Given the description of an element on the screen output the (x, y) to click on. 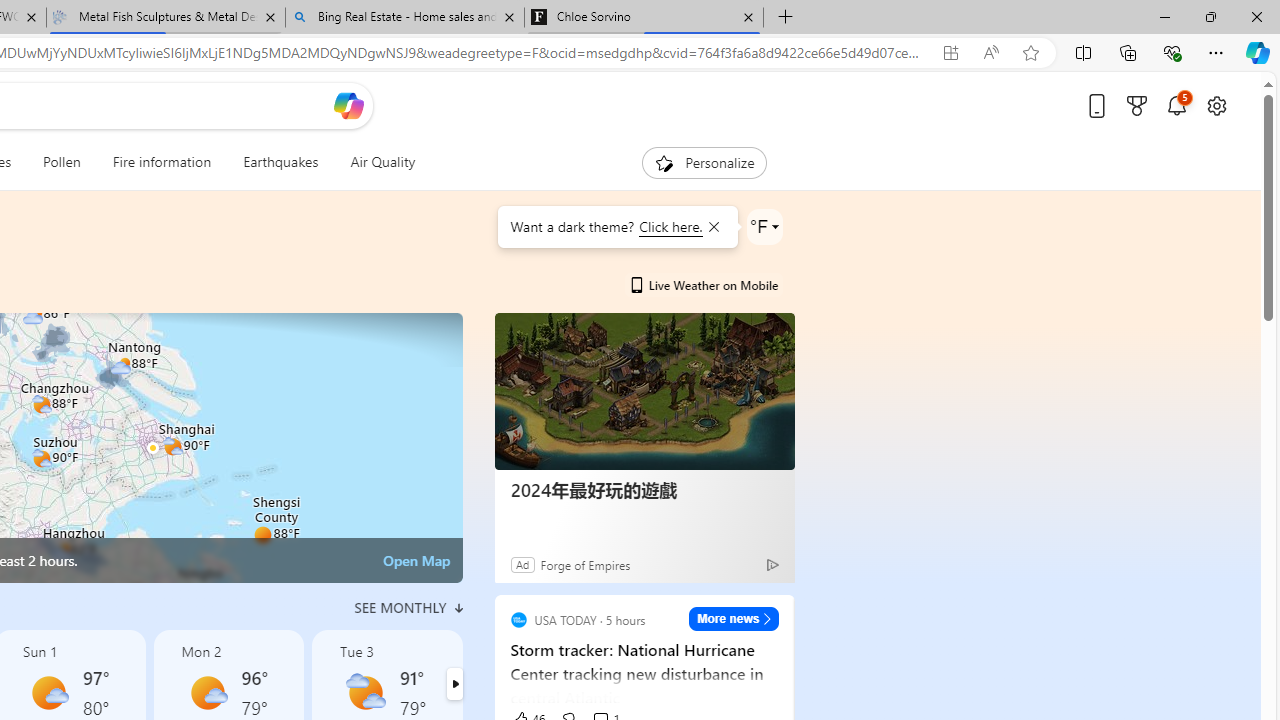
Class: BubbleMessageCloseIcon-DS-EntryPoint1-1 (712, 227)
Minimize (1164, 16)
Switch right (454, 683)
Microsoft rewards (1137, 105)
New Tab (785, 17)
Mostly sunny (206, 692)
Chloe Sorvino (643, 17)
Notifications (1176, 105)
Open Copilot (347, 105)
Browser essentials (1171, 52)
Copilot (Ctrl+Shift+.) (1258, 52)
See Monthly (408, 607)
Split screen (1083, 52)
Air Quality (382, 162)
